Given the description of an element on the screen output the (x, y) to click on. 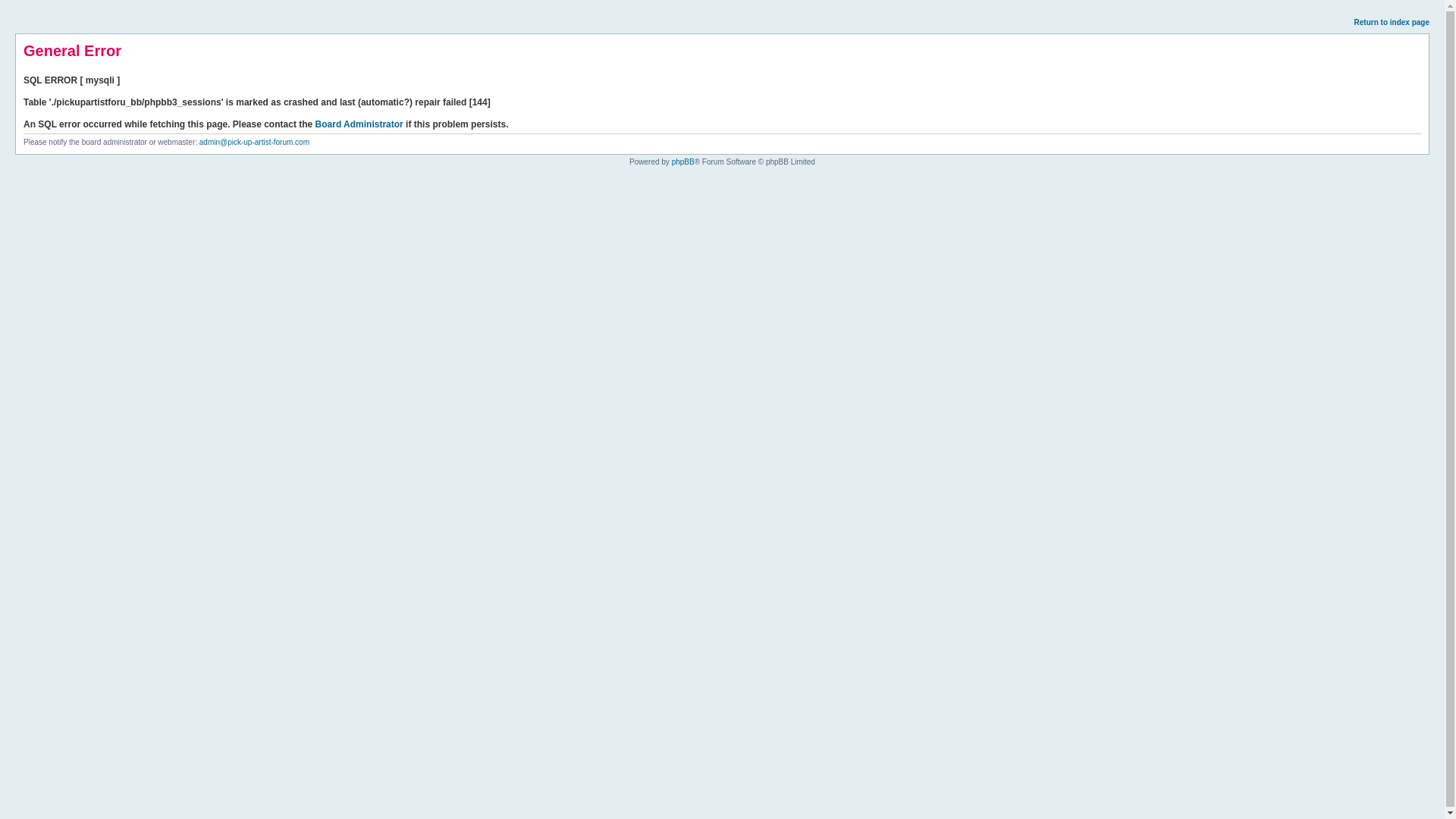
Return to index page (1391, 22)
Board Administrator (359, 123)
phpBB (682, 162)
